Given the description of an element on the screen output the (x, y) to click on. 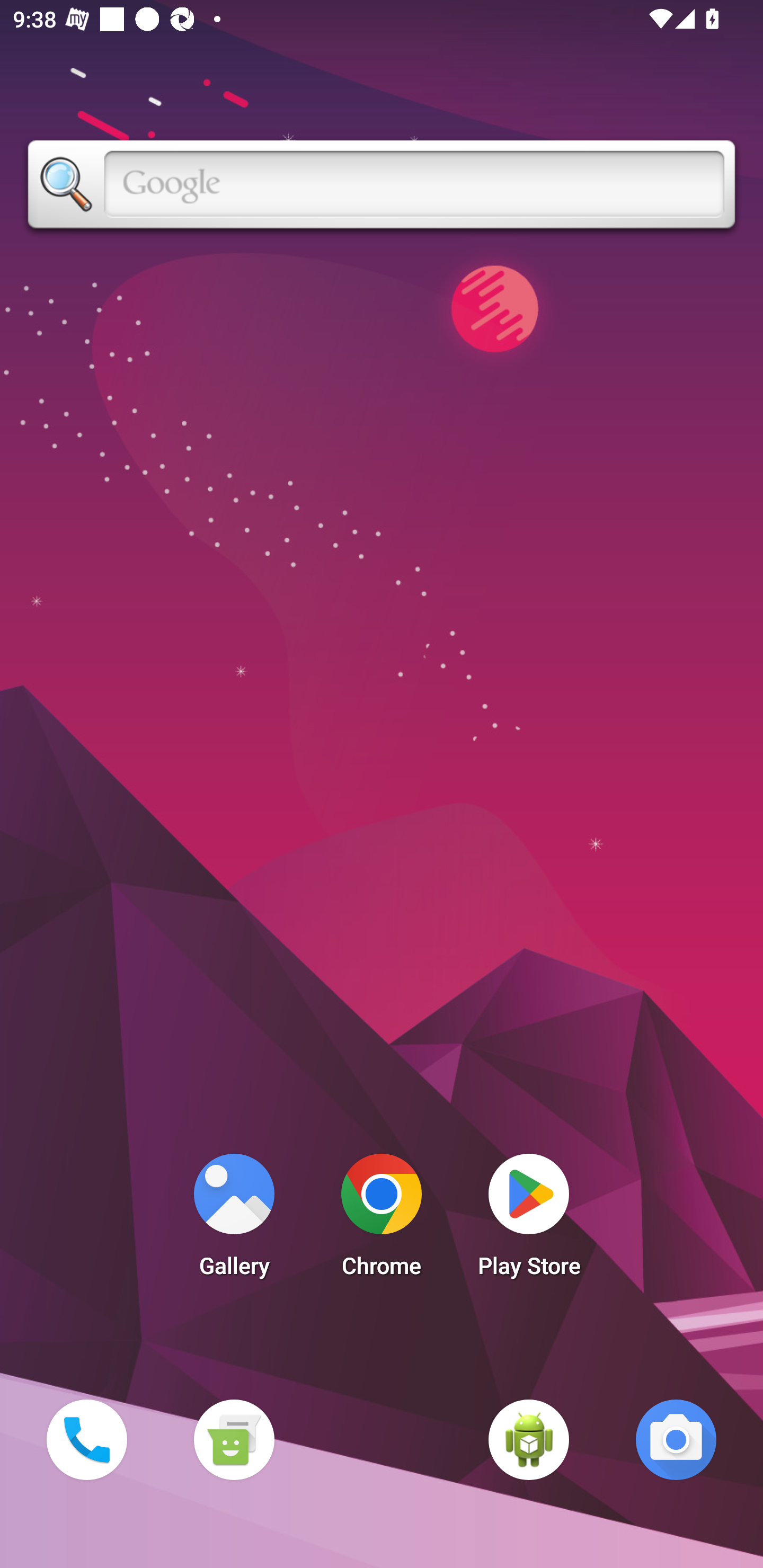
Gallery (233, 1220)
Chrome (381, 1220)
Play Store (528, 1220)
Phone (86, 1439)
Messaging (233, 1439)
WebView Browser Tester (528, 1439)
Camera (676, 1439)
